Given the description of an element on the screen output the (x, y) to click on. 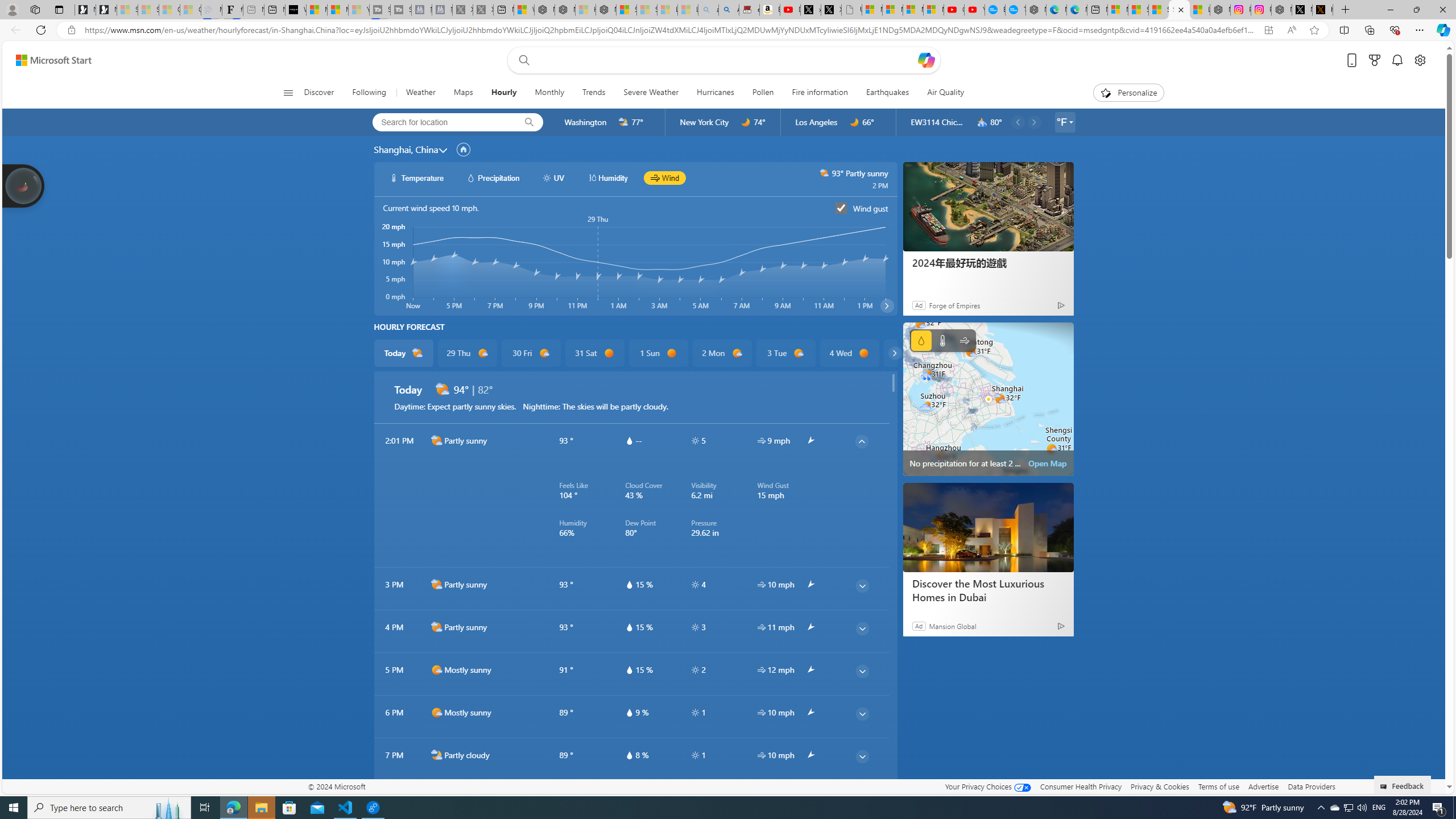
Data Providers (1311, 786)
Your Privacy Choices (987, 786)
hourlyTable/uv (694, 755)
locationBar/triangle (1070, 122)
static map image of vector map (988, 398)
amazon - Search - Sleeping (708, 9)
Open Map (1047, 463)
